Given the description of an element on the screen output the (x, y) to click on. 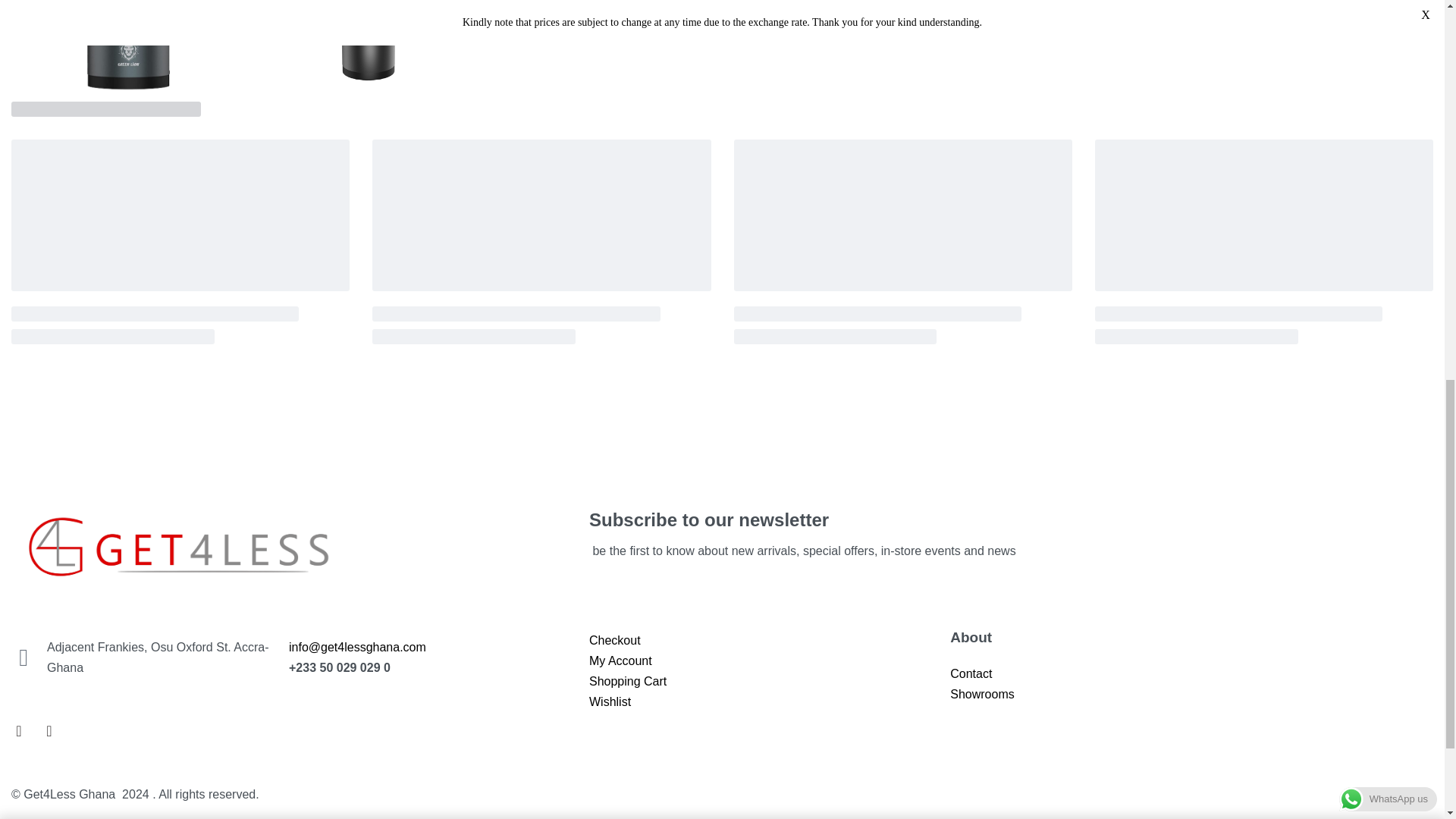
gray 2 (366, 47)
1 (1164, 33)
GREEN CAR TRACH CAN 500ML GRAY (129, 47)
Green Lion Essential Manicure Kit Black (1420, 33)
Green Lion Car Trach Can 500ml Black (1385, 33)
